Given the description of an element on the screen output the (x, y) to click on. 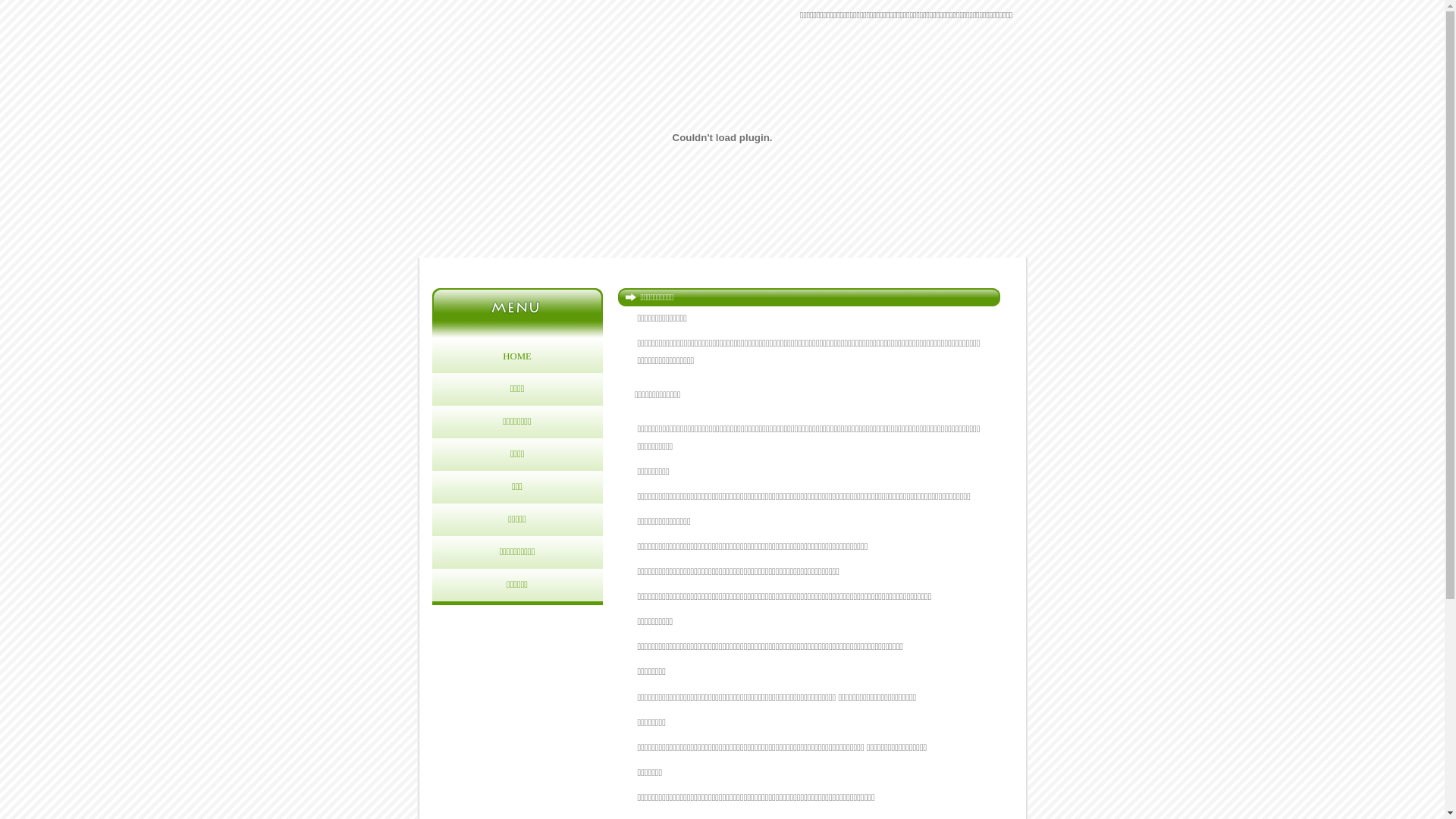
HOME Element type: text (517, 356)
